Given the description of an element on the screen output the (x, y) to click on. 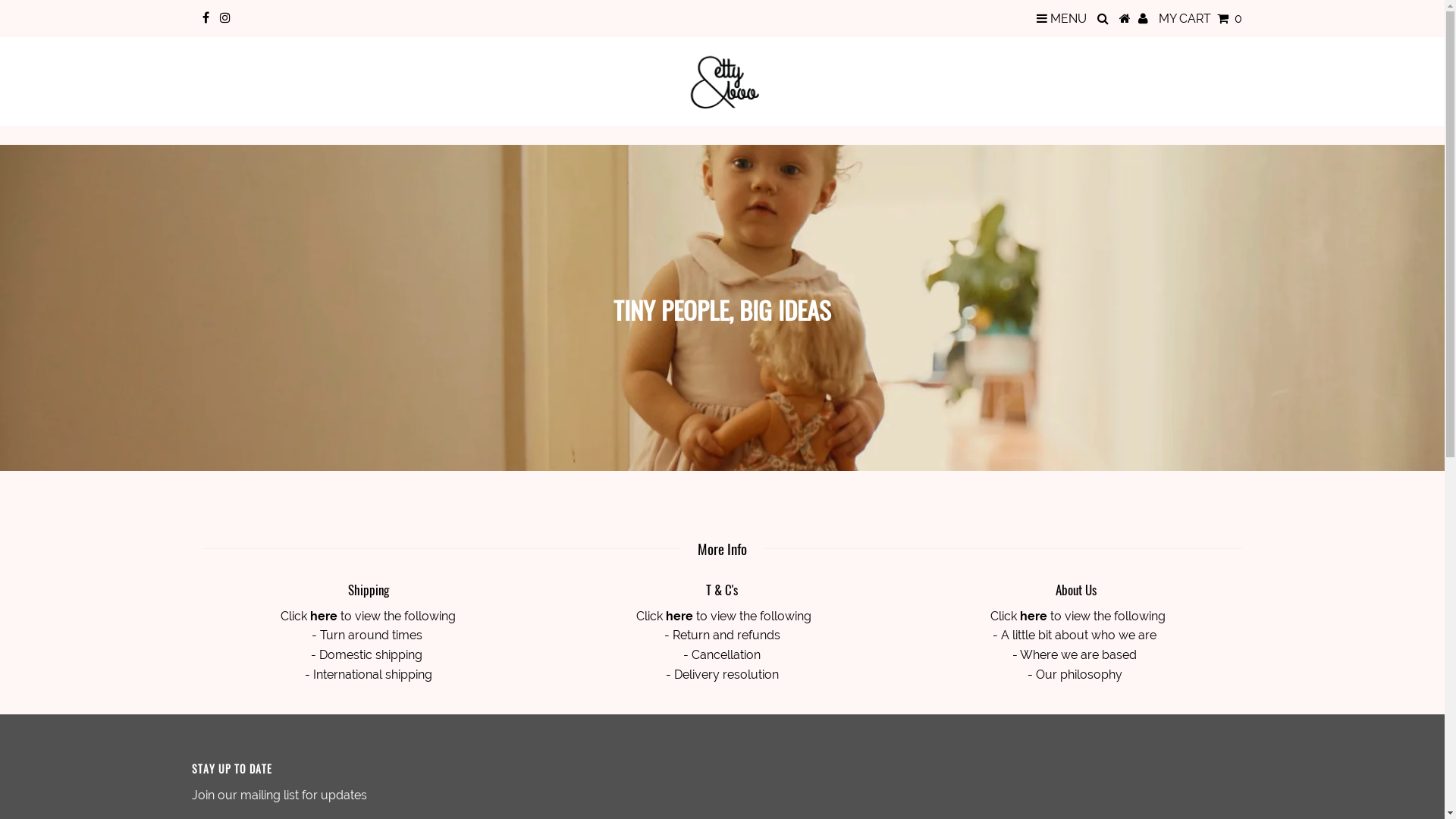
Click here to view the following Element type: text (367, 615)
MY CART    0 Element type: text (1200, 18)
 Click here to view the following Element type: text (722, 615)
 Click here to view the following Element type: text (1076, 615)
